Given the description of an element on the screen output the (x, y) to click on. 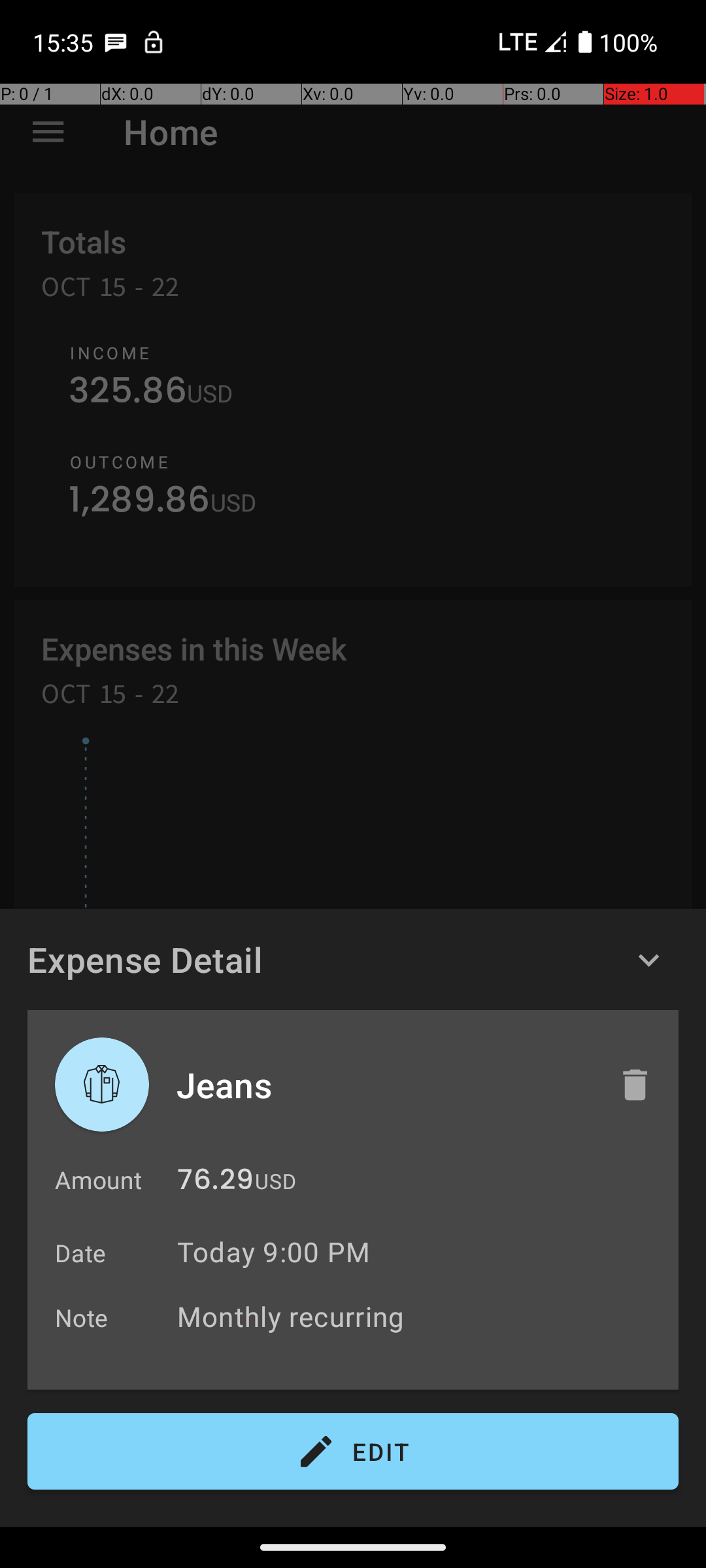
Jeans Element type: android.widget.TextView (383, 1084)
76.29 Element type: android.widget.TextView (215, 1182)
Today 9:00 PM Element type: android.widget.TextView (273, 1251)
